Given the description of an element on the screen output the (x, y) to click on. 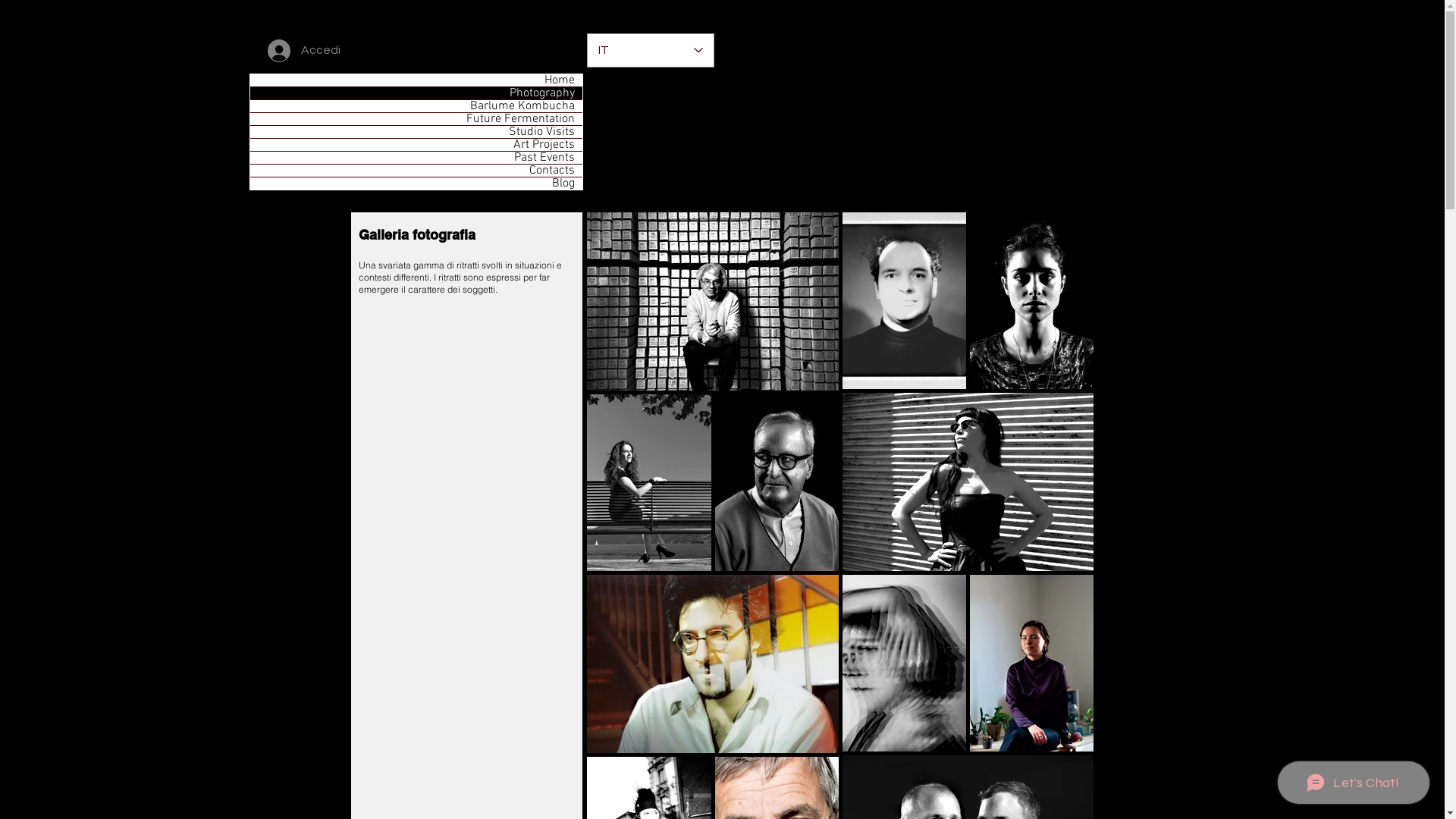
Blog Element type: text (416, 183)
Home Element type: text (416, 80)
Future Fermentation Element type: text (416, 118)
Barlume Kombucha Element type: text (416, 106)
Past Events Element type: text (416, 157)
Photography Element type: text (416, 93)
Accedi Element type: text (303, 50)
Studio Visits Element type: text (416, 131)
Contacts Element type: text (416, 170)
Art Projects Element type: text (416, 144)
TWIPLA (Visitor Analytics) Element type: hover (1442, 4)
